Given the description of an element on the screen output the (x, y) to click on. 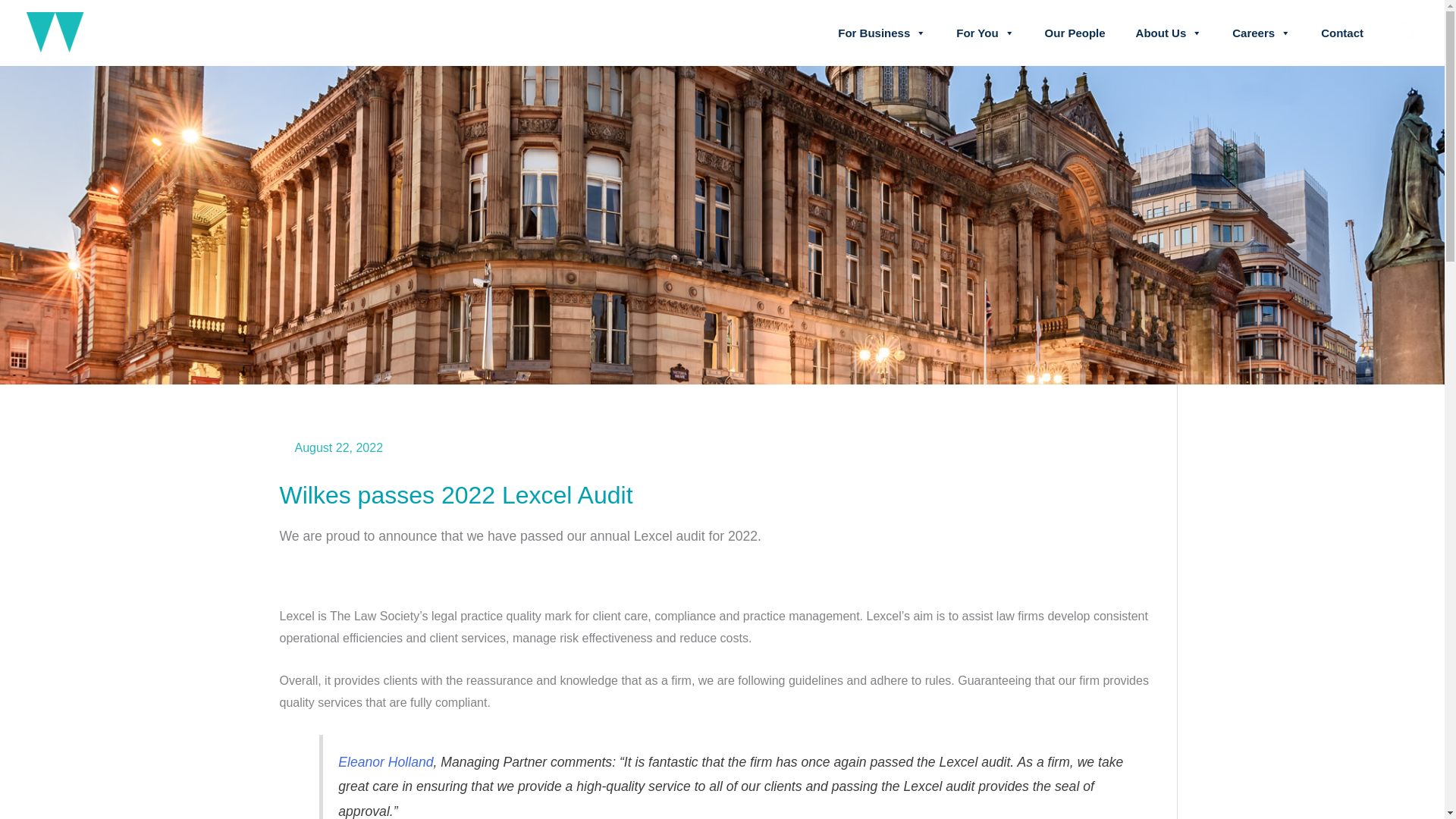
For You (984, 33)
Our People (1075, 33)
For Business (881, 33)
